Given the description of an element on the screen output the (x, y) to click on. 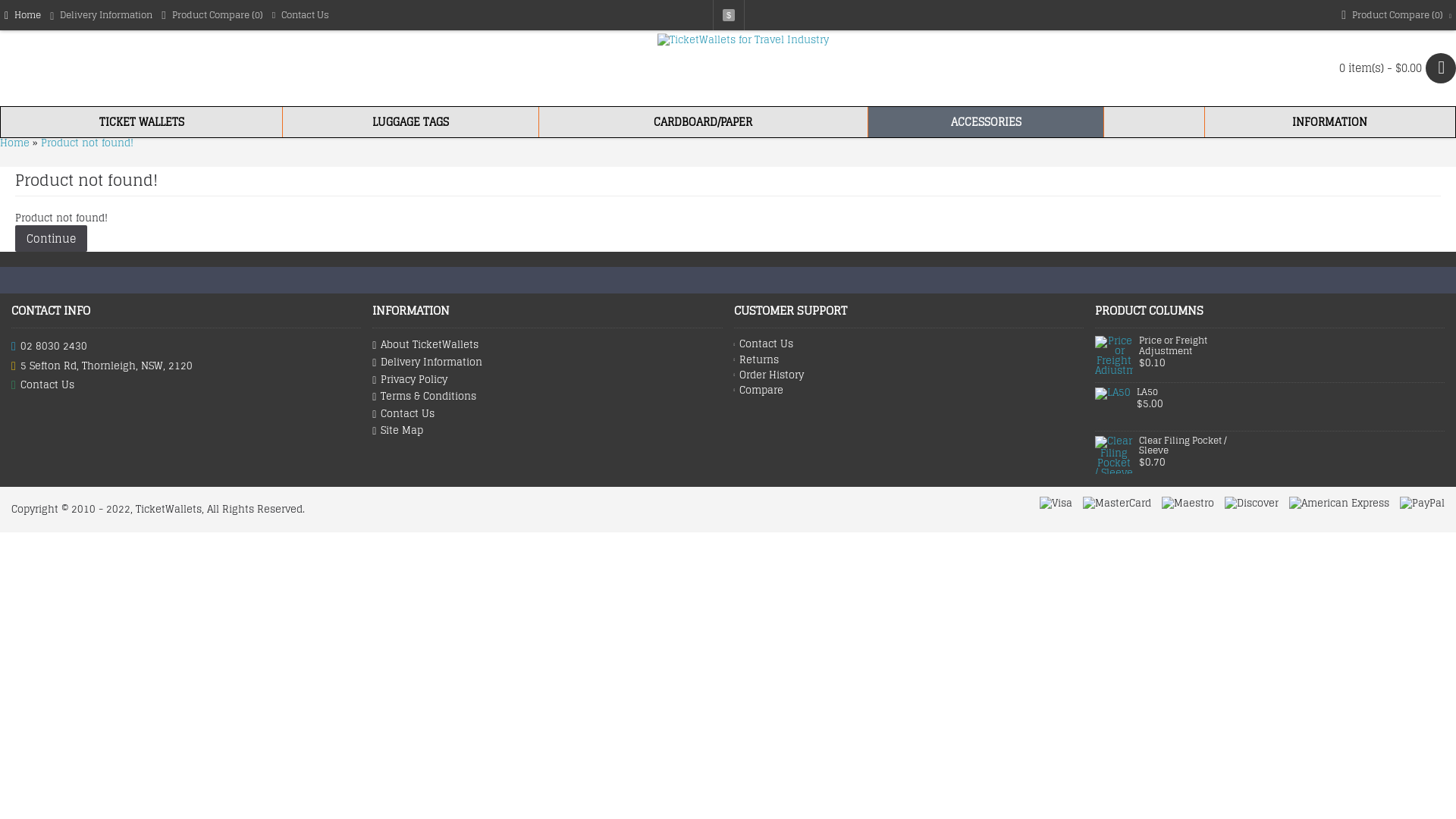
Returns Element type: text (908, 360)
02 8030 2430 Element type: text (185, 345)
Price or Freight Adjustment Element type: hover (1113, 354)
ACCESSORIES Element type: text (985, 121)
$ Element type: text (728, 15)
Price or Freight Adjustment Element type: text (1192, 345)
Home Element type: text (14, 142)
Product not found! Element type: text (86, 142)
Site Map Element type: text (546, 431)
Terms & Conditions Element type: text (546, 396)
TICKET WALLETS Element type: text (141, 121)
Contact Us Element type: text (908, 344)
CARDBOARD/PAPER Element type: text (703, 121)
Clear Filing Pocket / Sleeve Element type: hover (1113, 454)
Product Compare (0) Element type: text (211, 15)
About TicketWallets Element type: text (546, 345)
Order History Element type: text (908, 375)
Clear Filing Pocket / Sleeve Element type: text (1192, 445)
TicketWallets for Travel Industry Element type: hover (742, 68)
Contact Us Element type: text (546, 414)
LUGGAGE TAGS Element type: text (410, 121)
Home Element type: text (22, 15)
LA50 Element type: hover (1112, 405)
Delivery Information Element type: text (100, 15)
Delivery Information Element type: text (546, 362)
Contact Us Element type: text (185, 384)
Privacy Policy Element type: text (546, 380)
Continue Element type: text (51, 238)
INFORMATION Element type: text (1329, 121)
LA50 Element type: text (1190, 391)
Contact Us Element type: text (300, 15)
Compare Element type: text (908, 390)
